Given the description of an element on the screen output the (x, y) to click on. 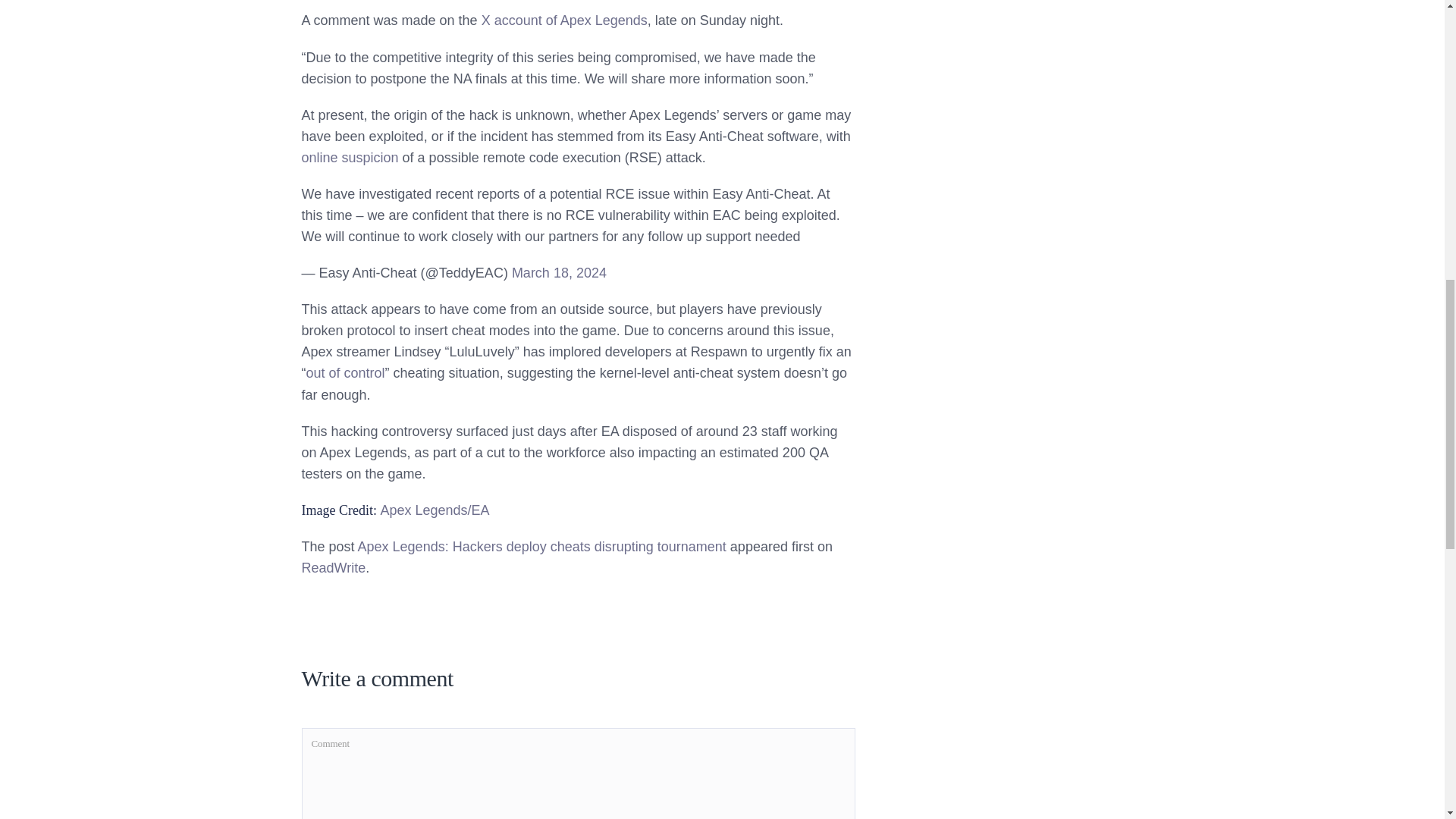
X account of Apex Legends (564, 20)
out of control (345, 372)
March 18, 2024 (559, 272)
online suspicion (349, 157)
Apex Legends: Hackers deploy cheats disrupting tournament (542, 546)
ReadWrite (333, 567)
